Given the description of an element on the screen output the (x, y) to click on. 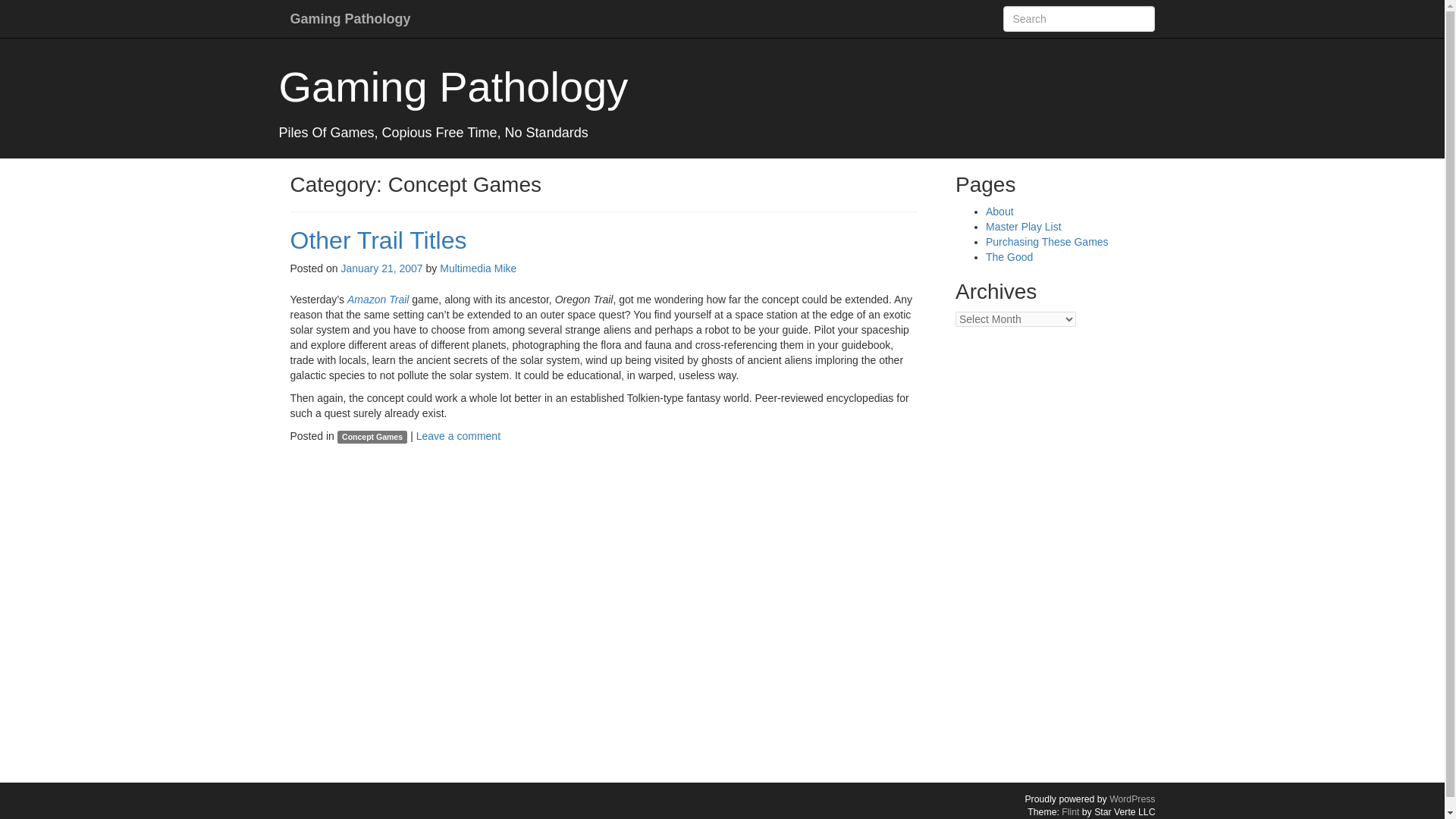
Leave a comment (458, 435)
View all posts in Concept Games (372, 436)
Amazon Trail (378, 299)
A Semantic Personal Publishing Platform (1131, 798)
View all posts by Multimedia Mike (477, 268)
The Good (1008, 256)
Other Trail Titles (377, 239)
Gaming Pathology (453, 86)
Gaming Pathology (350, 18)
Master Play List (1023, 226)
January 21, 2007 (381, 268)
Concept Games (372, 436)
Flint (1069, 811)
WordPress (1131, 798)
Purchasing These Games (1046, 241)
